Given the description of an element on the screen output the (x, y) to click on. 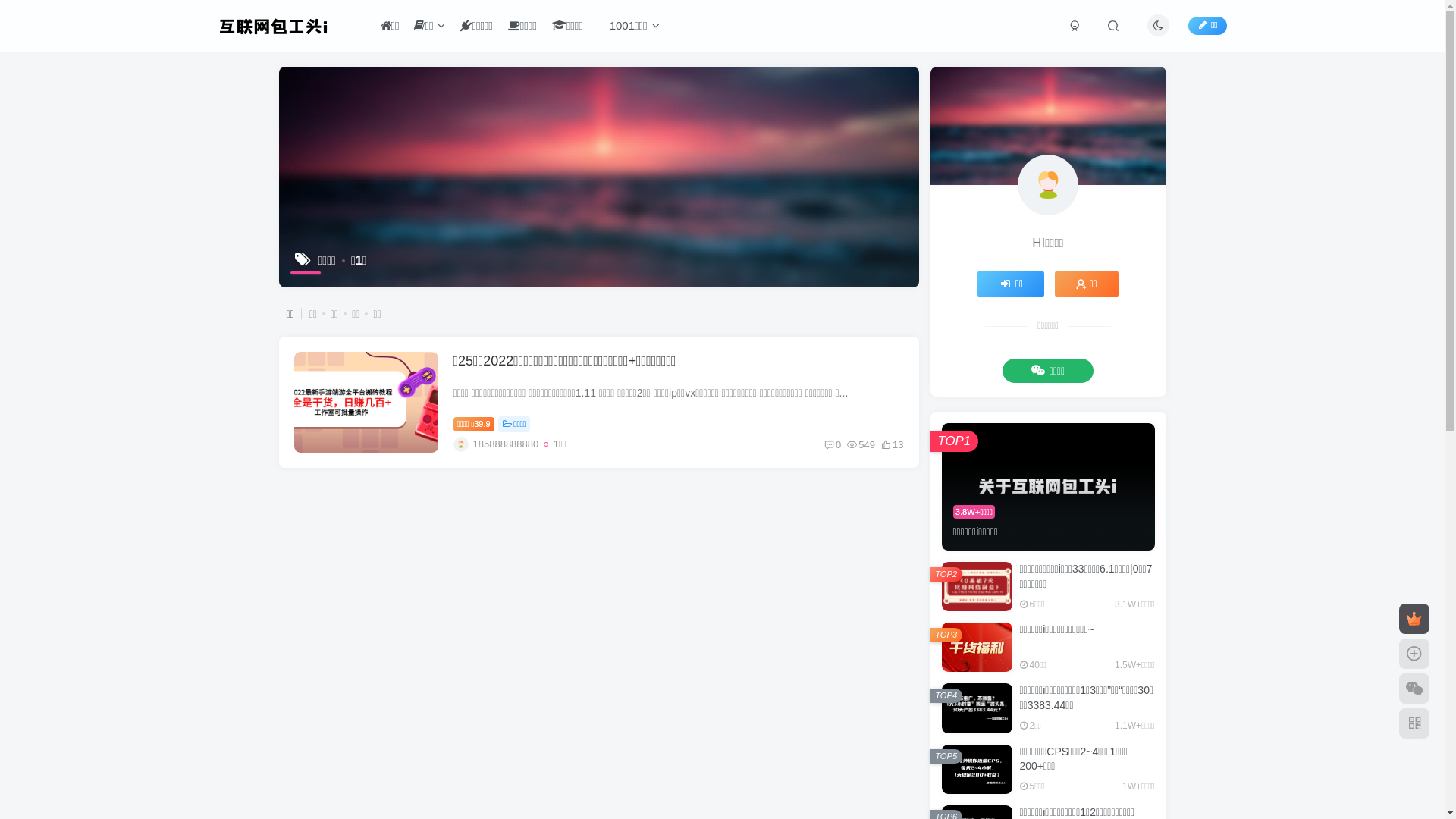
0 Element type: text (832, 444)
